Given the description of an element on the screen output the (x, y) to click on. 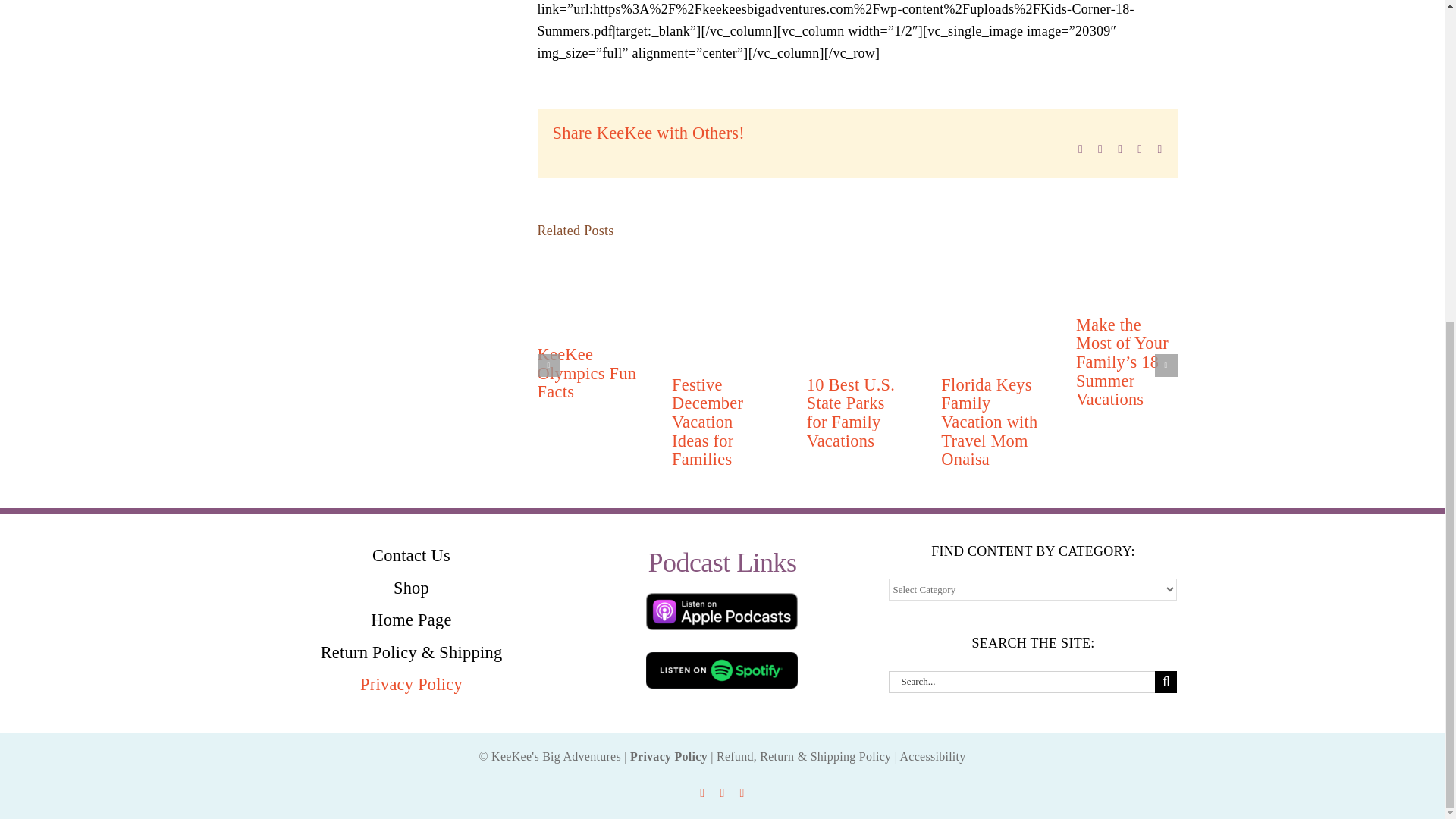
KeeKee Olympics Fun Facts (586, 372)
10 Best U.S. State Parks for Family Vacations (850, 412)
Florida Keys Family Vacation with Travel Mom Onaisa (988, 422)
